Given the description of an element on the screen output the (x, y) to click on. 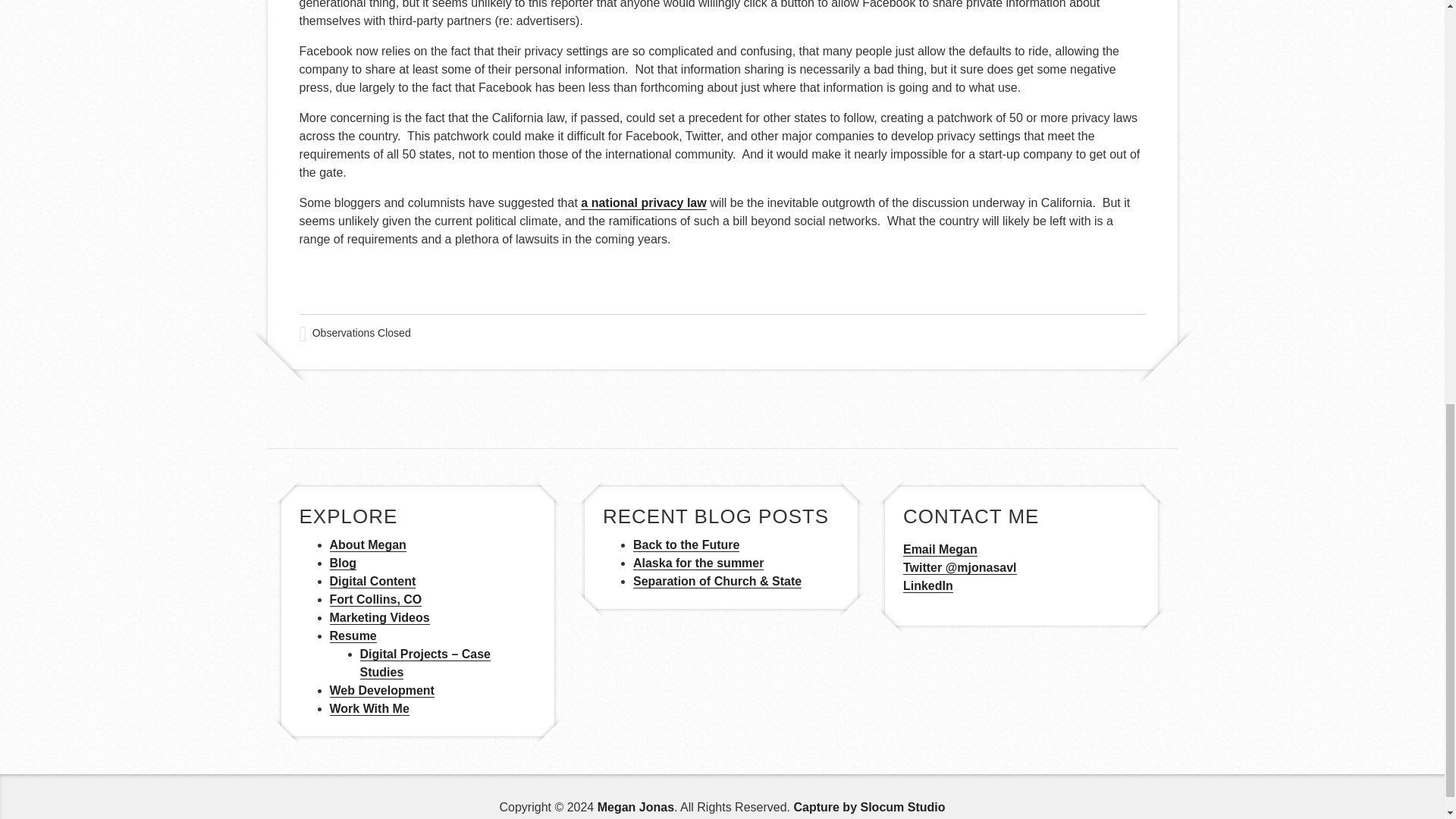
Marketing Videos (379, 617)
a national privacy law (643, 202)
Blog (342, 563)
About Megan (367, 545)
Fort Collins, CO (375, 599)
Digital Content (371, 581)
